Given the description of an element on the screen output the (x, y) to click on. 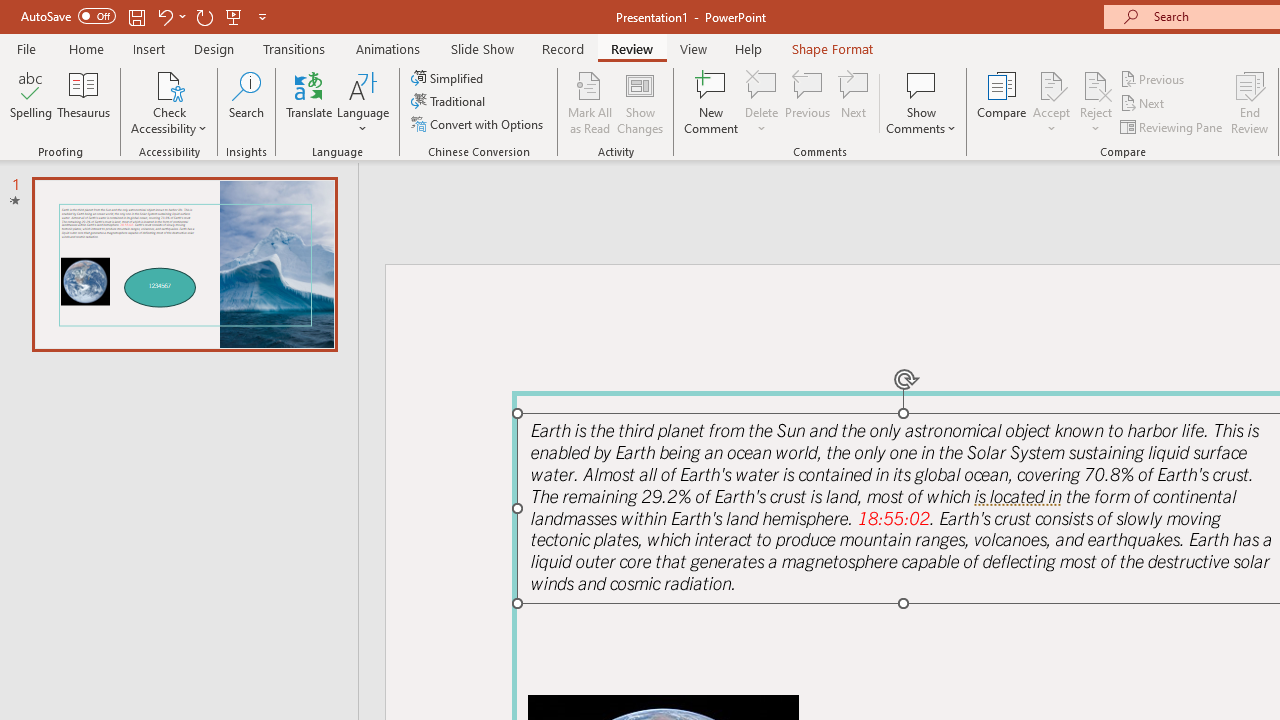
Reject Change (1096, 84)
Show Changes (639, 102)
Previous (1153, 78)
Accept (1051, 102)
Reject (1096, 102)
Shape Format (832, 48)
Simplified (449, 78)
